Given the description of an element on the screen output the (x, y) to click on. 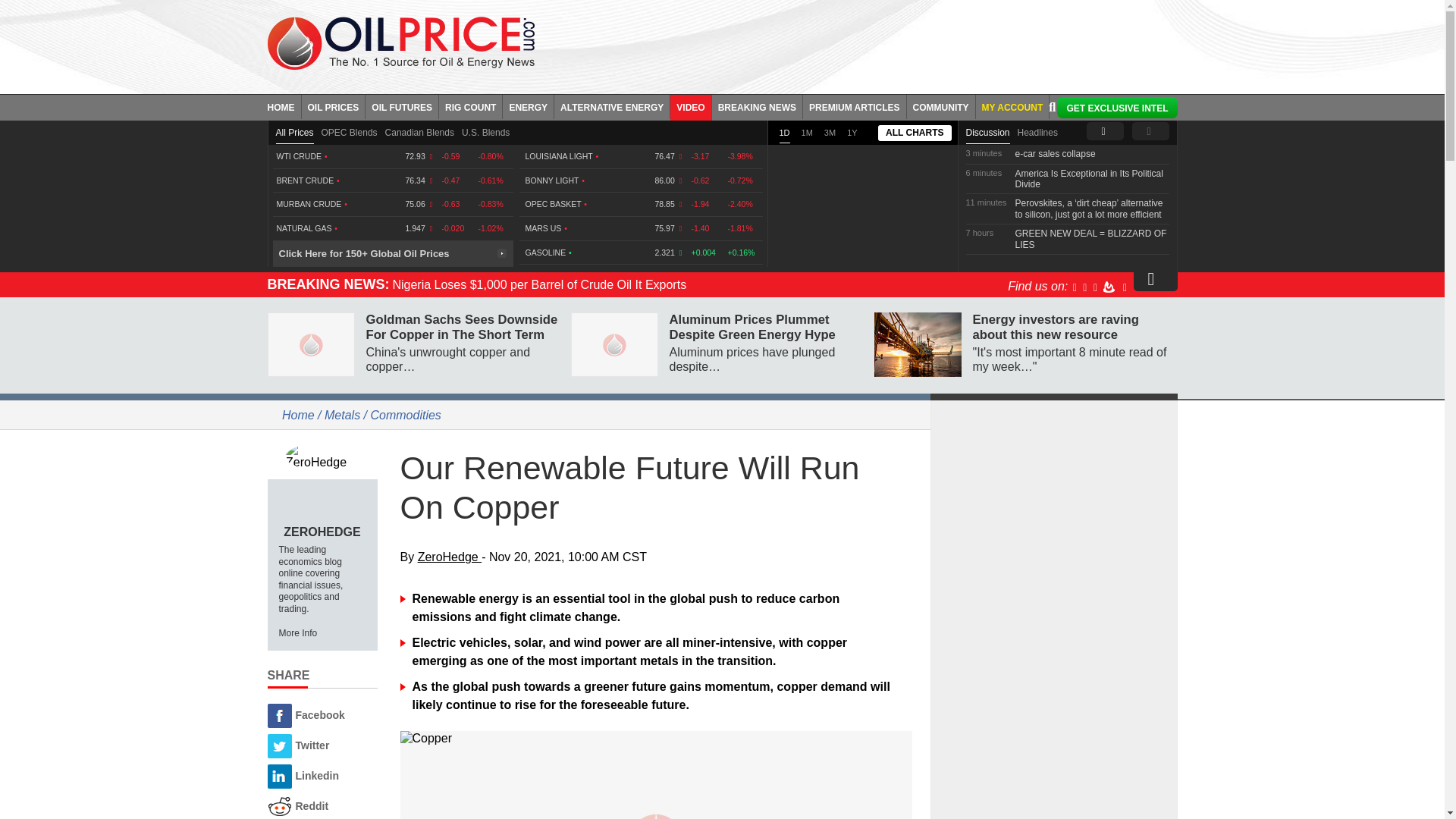
COMMUNITY (941, 106)
BREAKING NEWS (757, 106)
Copper (656, 738)
VIDEO (690, 106)
ENERGY (528, 106)
MY ACCOUNT (1012, 106)
OIL PRICES (333, 106)
ALTERNATIVE ENERGY (611, 106)
RIG COUNT (470, 106)
Oil prices - Oilprice.com (400, 42)
PREMIUM ARTICLES (855, 106)
OIL FUTURES (402, 106)
ZeroHedge  (321, 455)
HOME (283, 106)
